Given the description of an element on the screen output the (x, y) to click on. 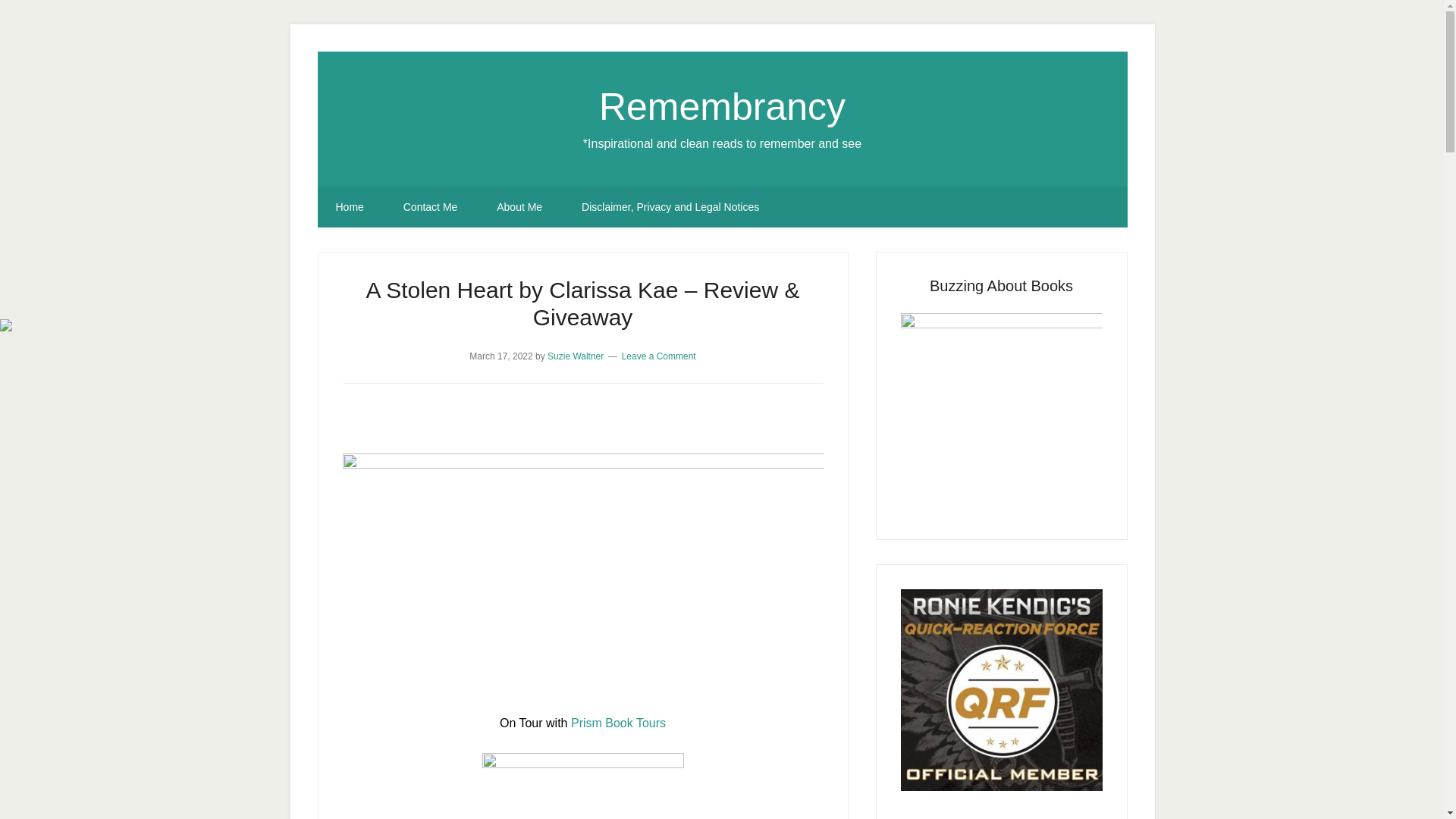
Contact Me (430, 206)
Leave a Comment (658, 356)
Suzie Waltner (575, 356)
Prism Book Tours (617, 721)
Home (349, 206)
About Me (519, 206)
Disclaimer, Privacy and Legal Notices (670, 206)
Remembrancy (721, 106)
